Given the description of an element on the screen output the (x, y) to click on. 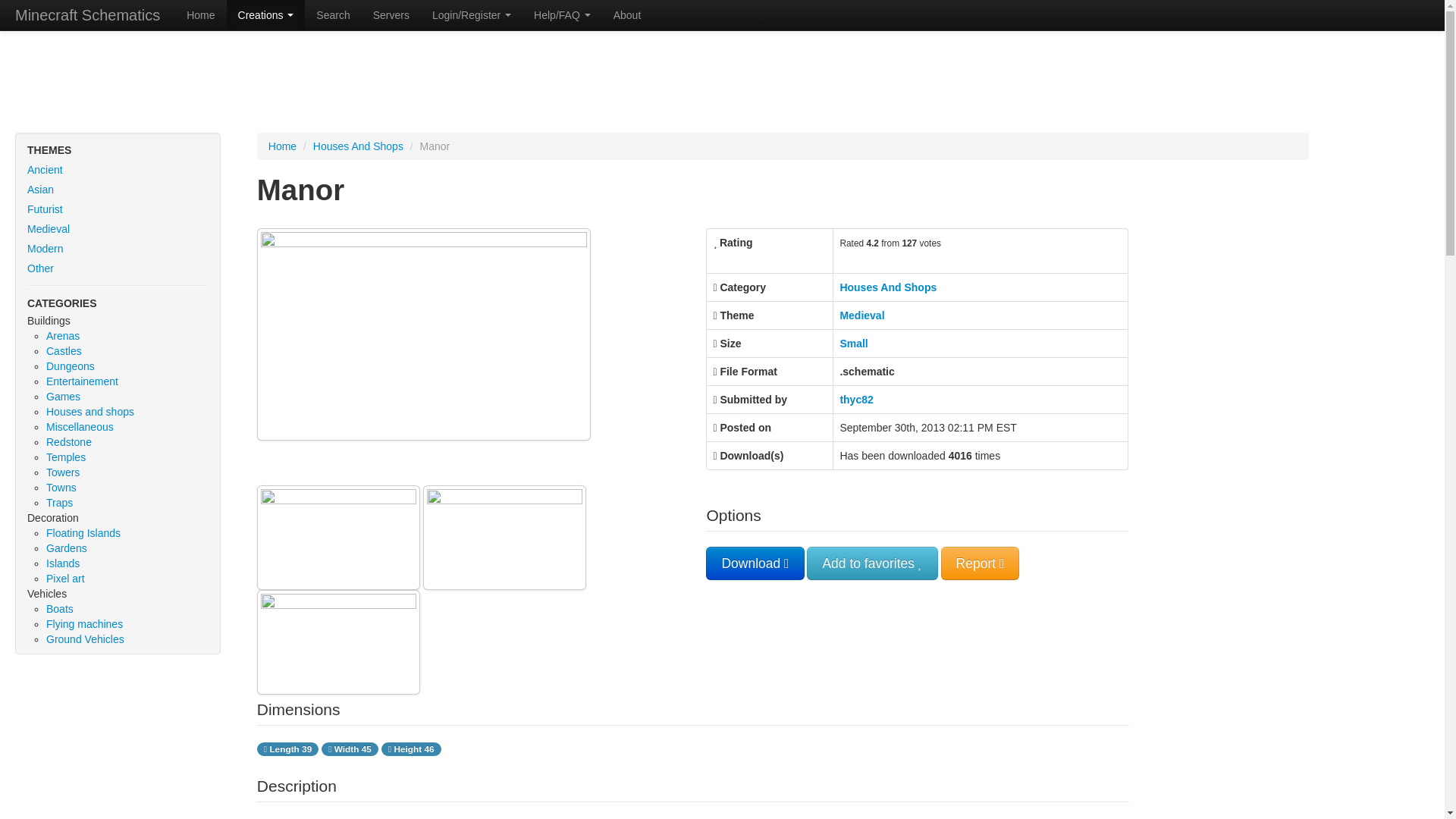
Home (199, 15)
Futurist (117, 209)
Dungeons (70, 366)
Other (117, 268)
Creations (266, 15)
Servers (390, 15)
Modern (117, 248)
Medieval (117, 229)
Asian (117, 189)
About (627, 15)
Castles (63, 350)
Search (332, 15)
Minecraft Schematics (87, 15)
Arenas (63, 336)
Ancient (117, 169)
